Given the description of an element on the screen output the (x, y) to click on. 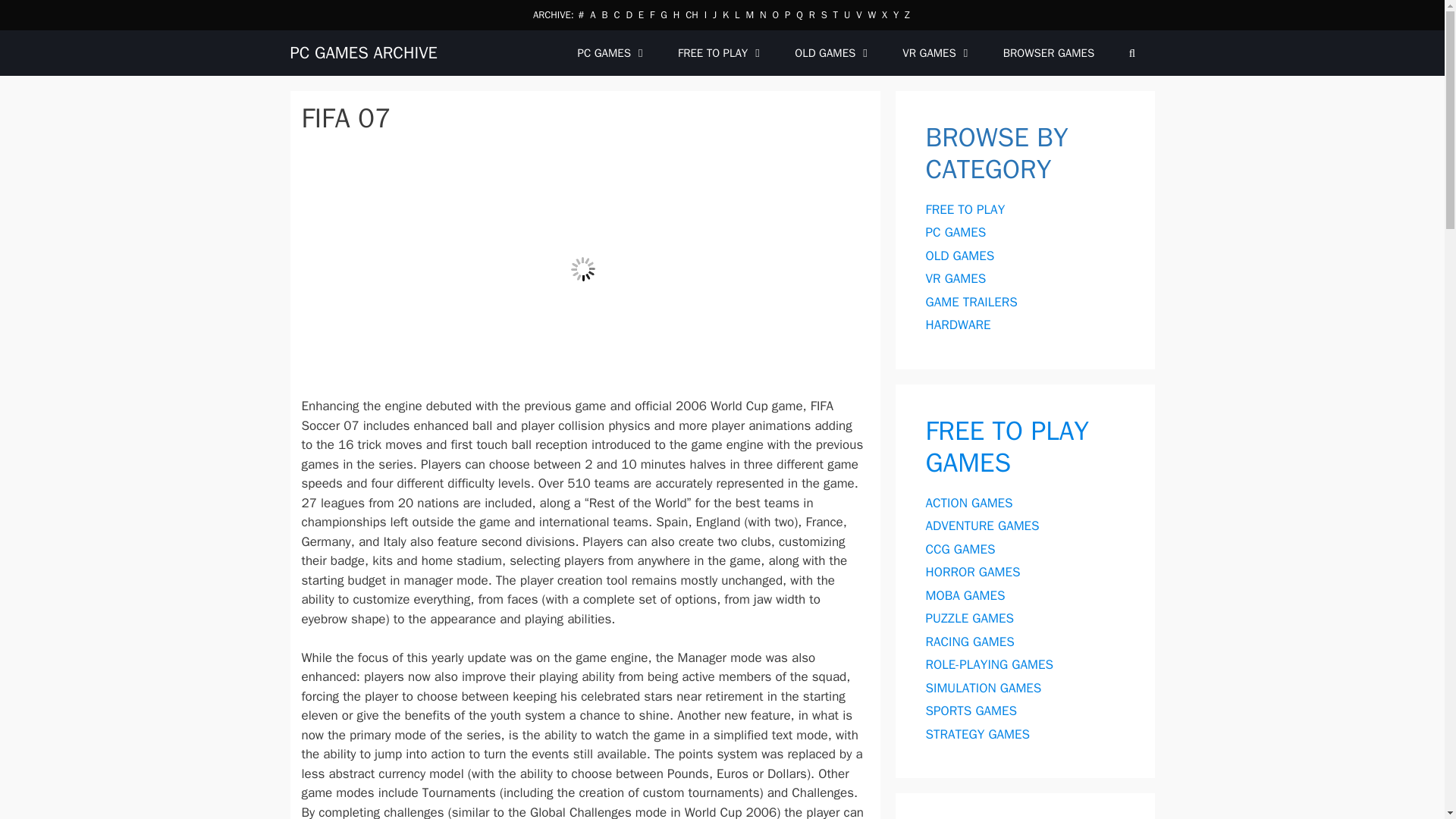
R (812, 14)
N (763, 14)
V (858, 14)
U (847, 14)
B (604, 14)
P (787, 14)
G (663, 14)
Z (907, 14)
H (675, 14)
D (628, 14)
E (641, 14)
Q (799, 14)
J (714, 14)
C (616, 14)
